Given the description of an element on the screen output the (x, y) to click on. 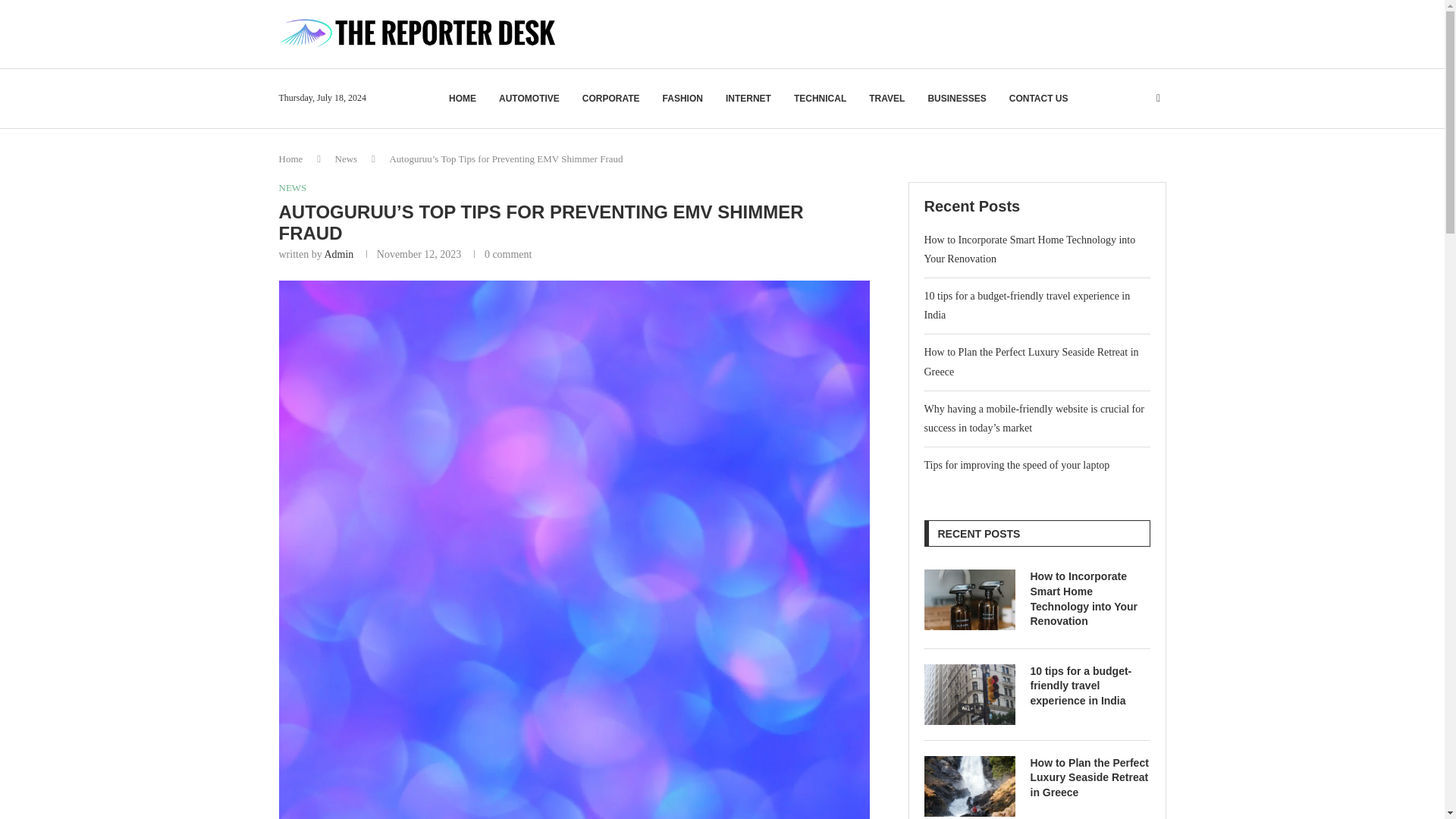
CONTACT US (1038, 98)
Search (1117, 127)
BUSINESSES (956, 98)
FASHION (682, 98)
AUTOMOTIVE (529, 98)
INTERNET (748, 98)
TECHNICAL (819, 98)
CORPORATE (611, 98)
